Given the description of an element on the screen output the (x, y) to click on. 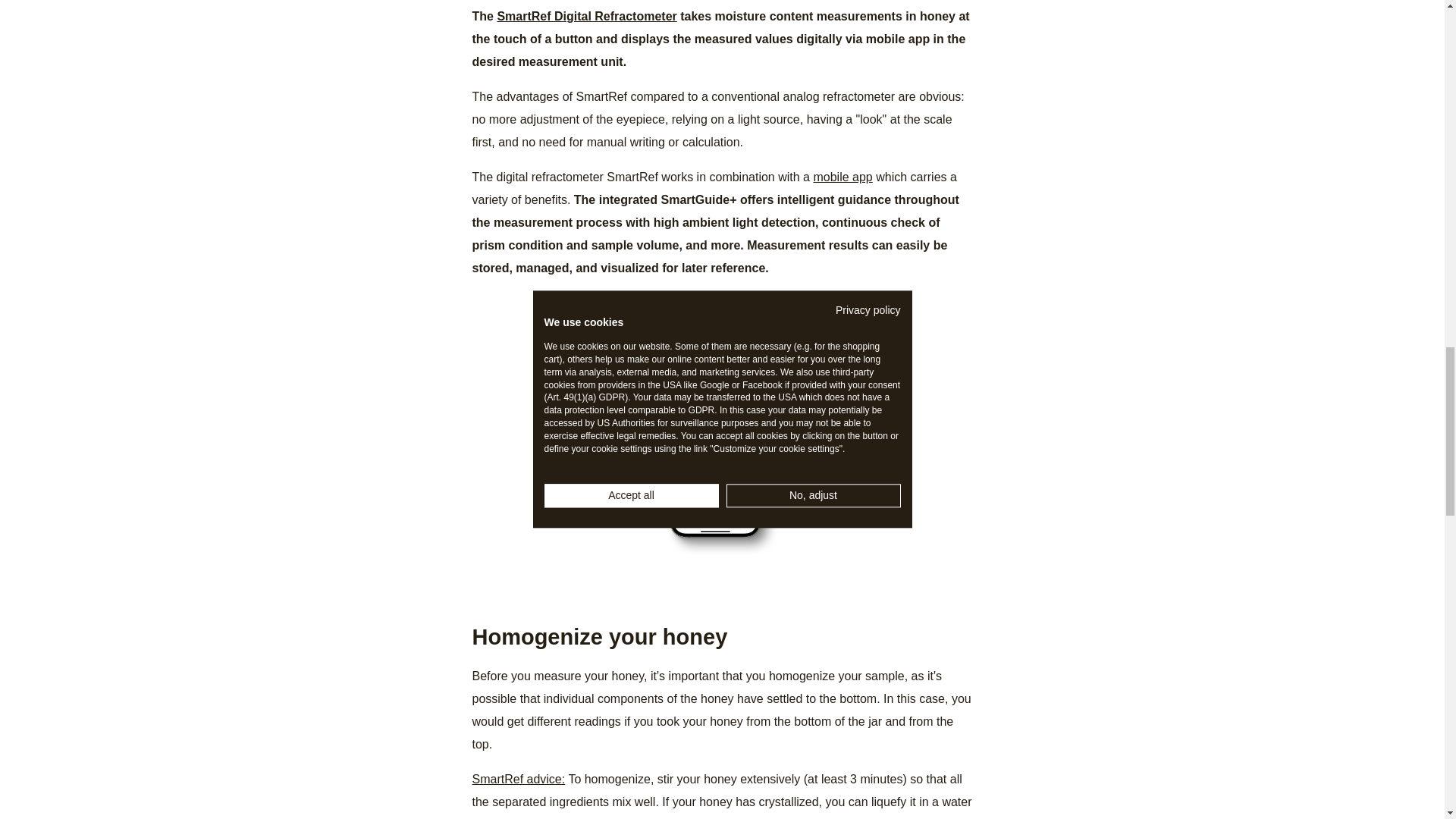
SmartRef mobile apps (842, 176)
SmartRef Digital Refractometer (586, 15)
